Given the description of an element on the screen output the (x, y) to click on. 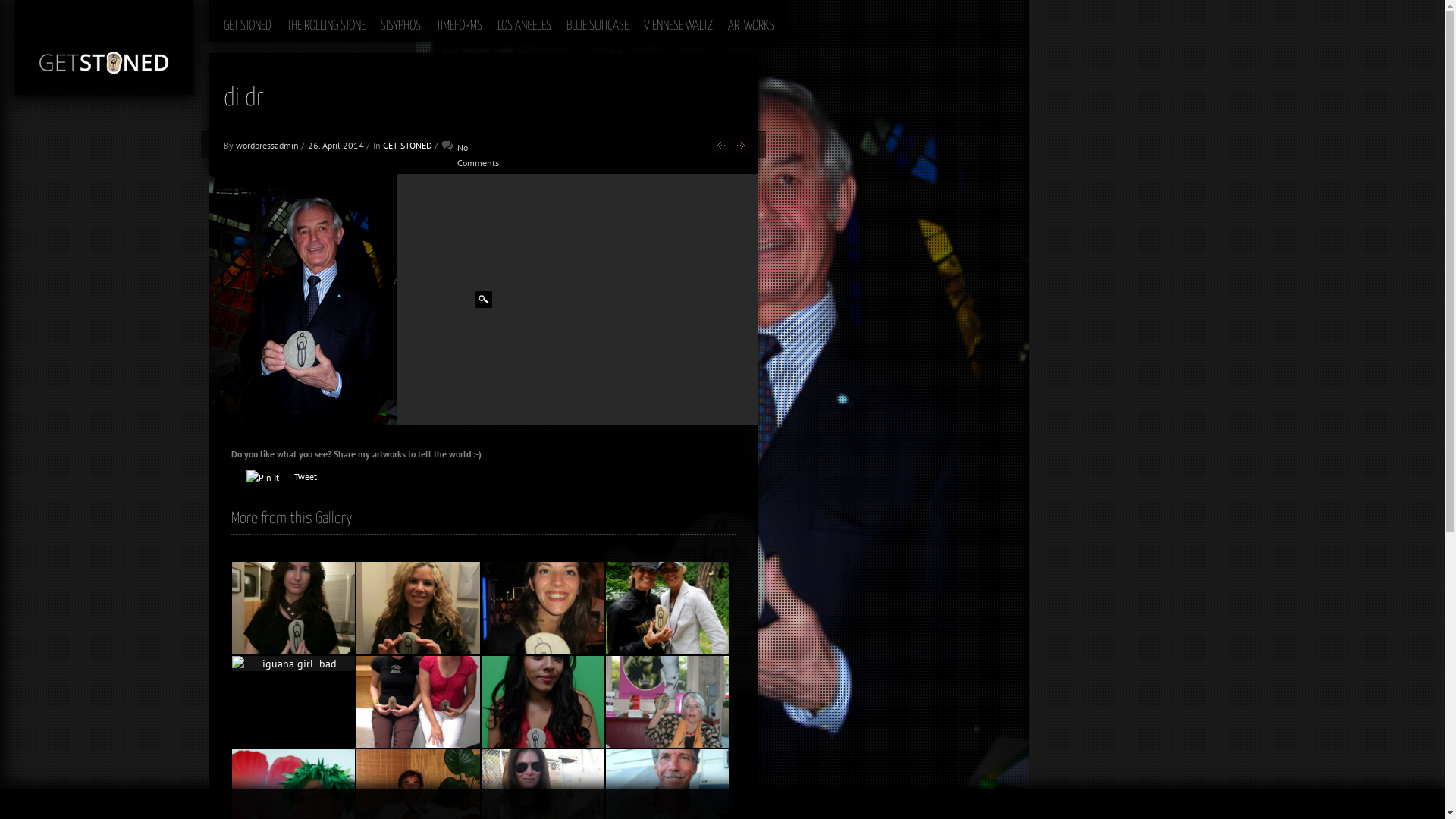
LOS ANGELES Element type: text (524, 21)
xaviera hollander the happy hooker Element type: hover (666, 701)
Get-Stoned_di20dr Element type: hover (302, 298)
iguana girl- bad Element type: hover (293, 663)
Main menu Element type: text (234, 7)
Next post Element type: hover (740, 144)
ARTWORKS Element type: text (751, 21)
GETSTONED.cc // The official Website of Hans BIWI Lechner Element type: hover (104, 47)
GET STONED Element type: text (407, 144)
munich sweet girls Element type: hover (666, 607)
VIENNESE WALTZ Element type: text (677, 21)
BLUE SUITCASE Element type: text (597, 21)
CONTACT Element type: text (1379, 803)
GET STONED Element type: text (247, 21)
AlisonCheryl Element type: hover (417, 701)
GUESTBOOK Element type: text (1326, 803)
ROXYMEDINA Element type: hover (541, 701)
Skip to content Element type: text (243, 7)
facebook Element type: hover (1418, 802)
Previous post Element type: hover (720, 144)
THE ROLLING STONE Element type: text (325, 21)
Tweet Element type: text (305, 476)
SISYPHOS Element type: text (400, 21)
TIMEFORMS Element type: text (459, 21)
Pin It Element type: hover (262, 477)
